Given the description of an element on the screen output the (x, y) to click on. 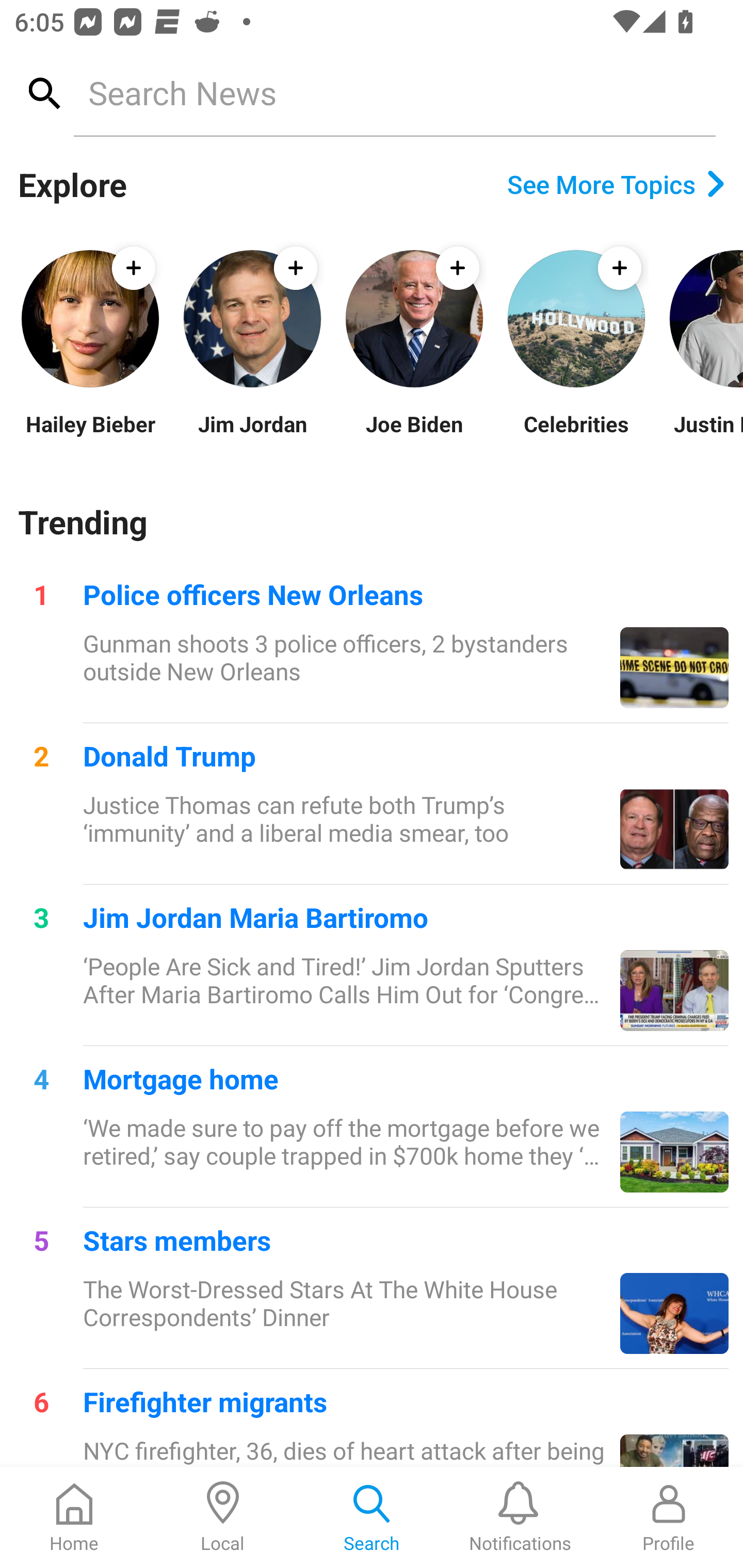
Search News (394, 92)
See More Topics (616, 183)
Hailey Bieber (89, 436)
Jim Jordan (251, 436)
Joe Biden (413, 436)
Celebrities (575, 436)
Justin Bieber (704, 436)
Home (74, 1517)
Local (222, 1517)
Notifications (519, 1517)
Profile (668, 1517)
